Given the description of an element on the screen output the (x, y) to click on. 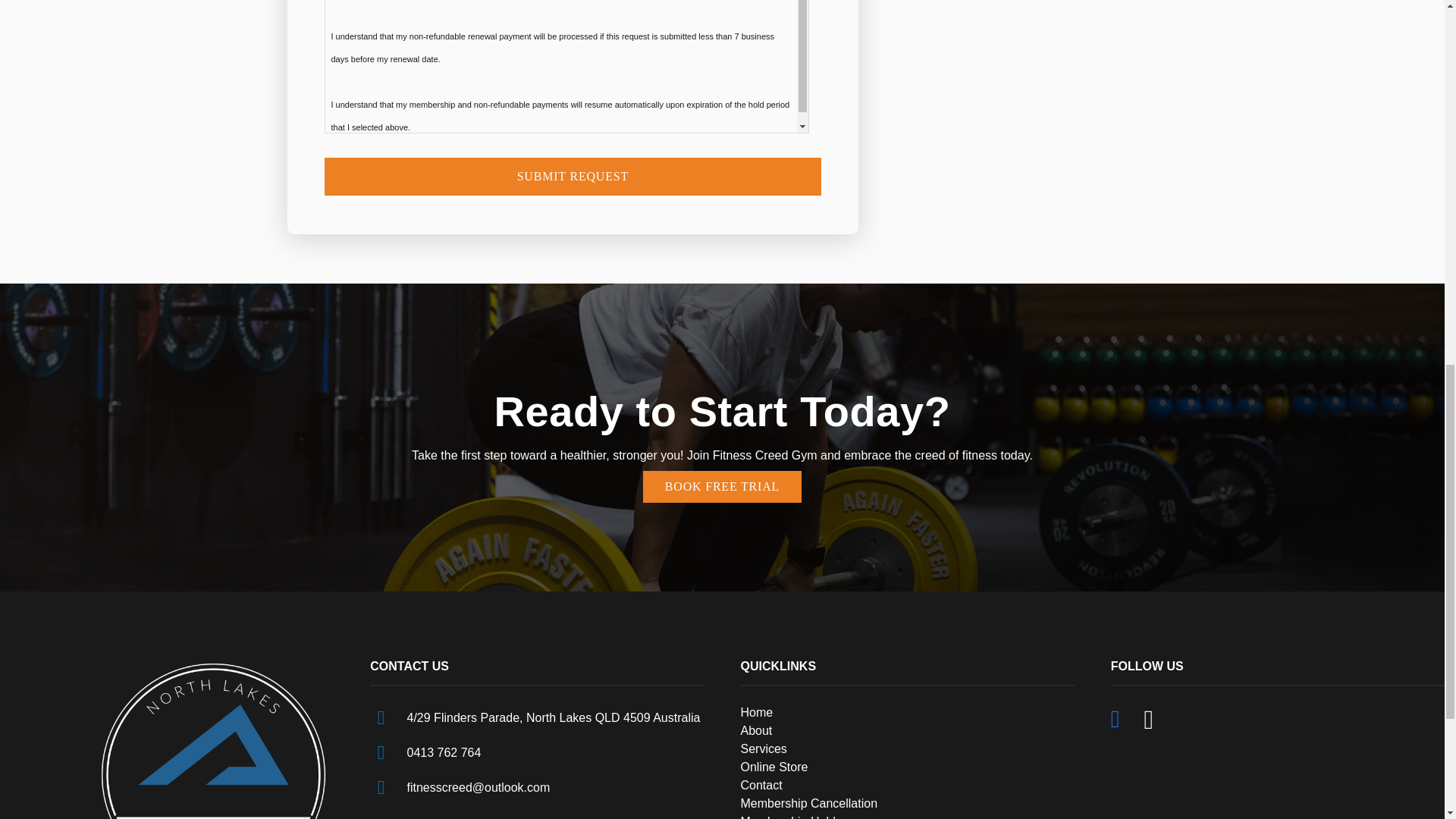
Submit Request (573, 176)
Submit Request (573, 176)
Back to top (30, 26)
About (755, 730)
Online Store (773, 766)
Home (756, 712)
Membership Hold (786, 816)
BOOK FREE TRIAL (722, 486)
Services (762, 748)
Membership Cancellation (808, 802)
Contact (760, 784)
0413 762 764 (444, 752)
